Given the description of an element on the screen output the (x, y) to click on. 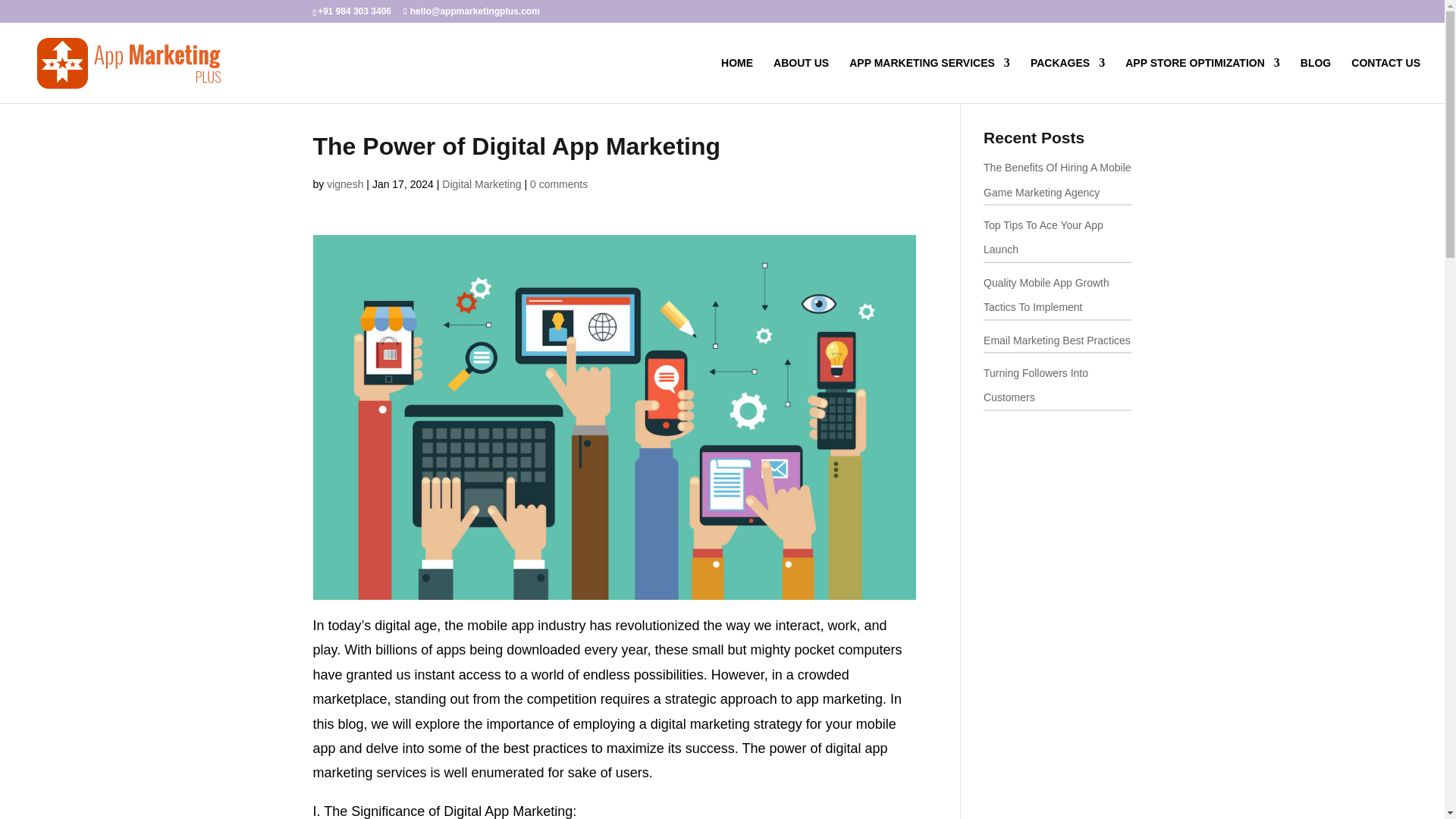
vignesh (344, 184)
CONTACT US (1386, 80)
PACKAGES (1067, 80)
Digital Marketing (481, 184)
Quality Mobile App Growth Tactics To Implement (1046, 294)
APP MARKETING SERVICES (929, 80)
The Benefits Of Hiring A Mobile Game Marketing Agency (1057, 179)
Posts by vignesh (344, 184)
ABOUT US (800, 80)
APP STORE OPTIMIZATION (1202, 80)
